Given the description of an element on the screen output the (x, y) to click on. 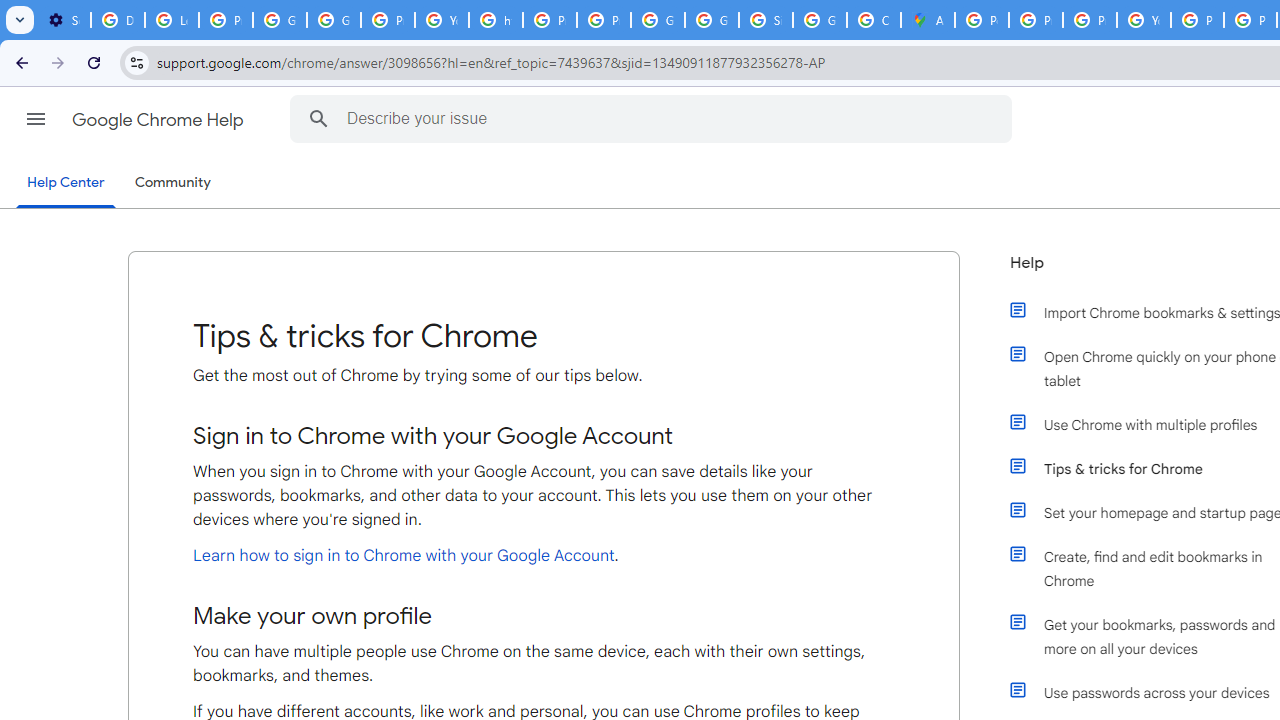
Settings - On startup (63, 20)
Delete photos & videos - Computer - Google Photos Help (117, 20)
